Given the description of an element on the screen output the (x, y) to click on. 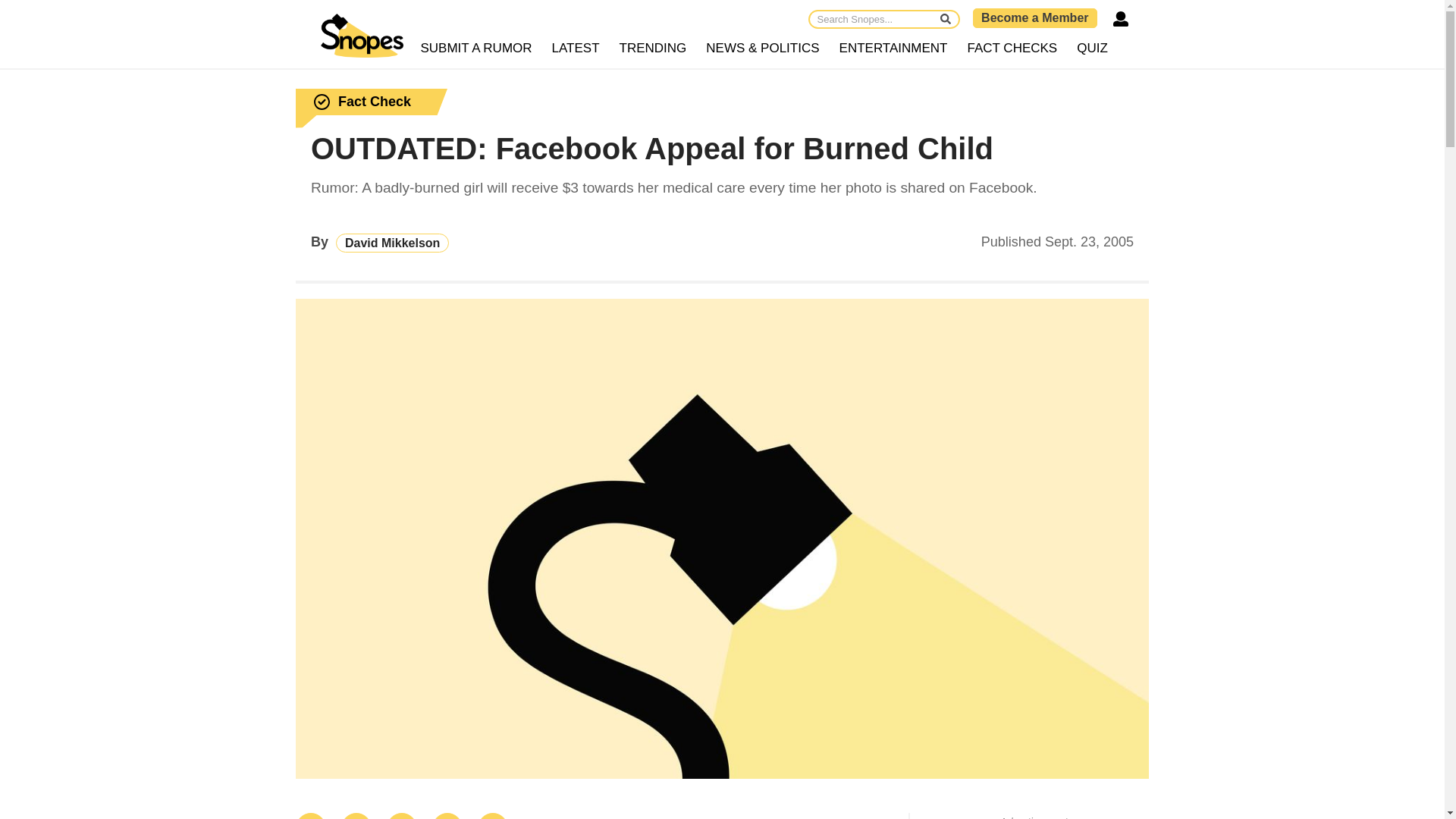
SUBMIT A RUMOR (475, 47)
FACT CHECKS (1011, 47)
ENTERTAINMENT (893, 47)
QUIZ (1092, 47)
TRENDING (653, 47)
Become a Member (1034, 17)
David Mikkelson (392, 242)
LATEST (576, 47)
